Given the description of an element on the screen output the (x, y) to click on. 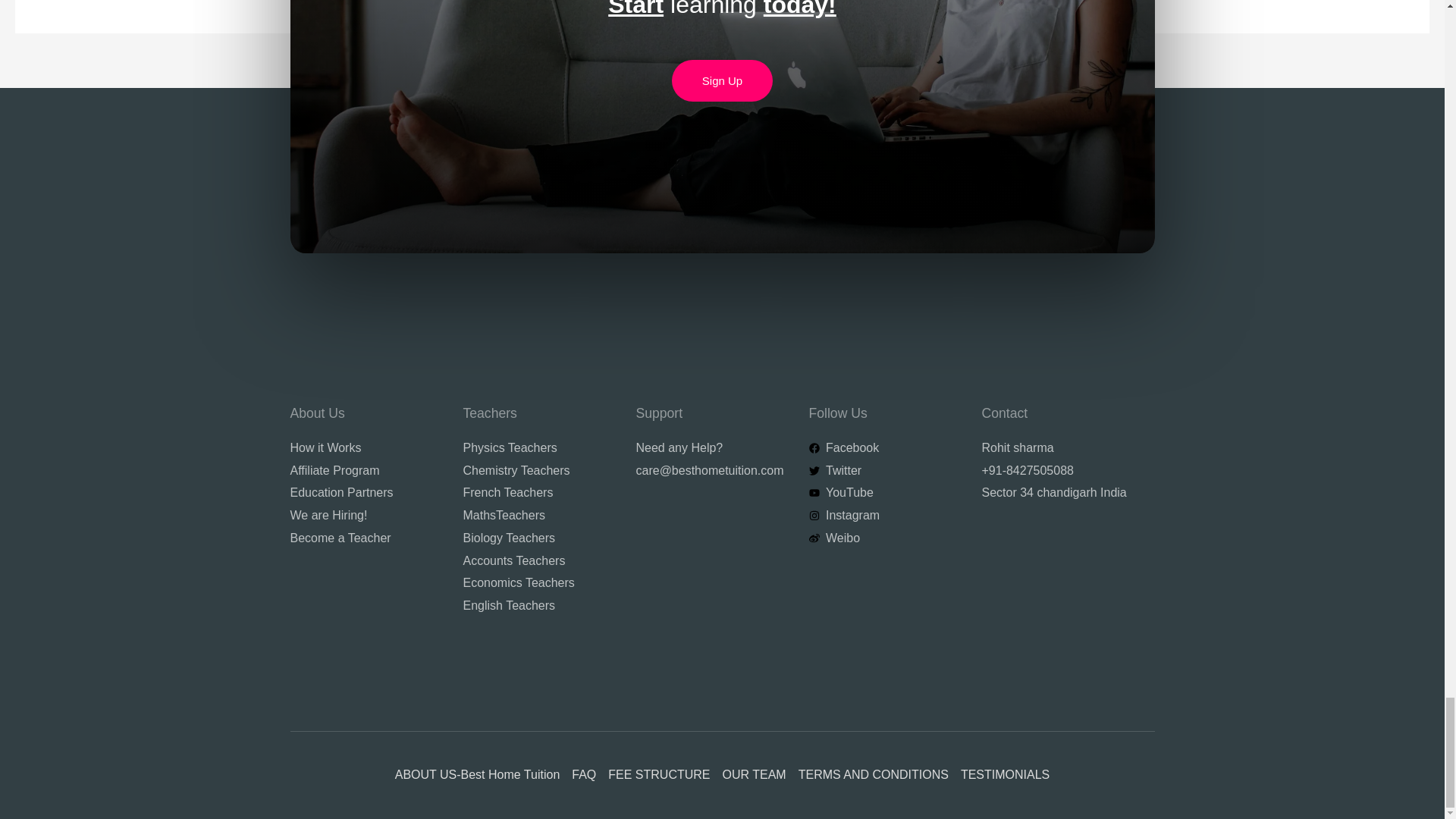
MathsTeachers (539, 515)
YouTube (885, 492)
Instagram (885, 515)
Facebook (885, 447)
Affiliate Program (366, 470)
Accounts Teachers (539, 560)
Sector 34 chandigarh India (1058, 492)
Chemistry Teachers (539, 470)
Weibo (885, 538)
Economics Teachers (539, 582)
French Teachers (539, 492)
Physics Teachers (539, 447)
Biology Teachers (539, 538)
Sign Up (722, 80)
FEE STRUCTURE (659, 774)
